Given the description of an element on the screen output the (x, y) to click on. 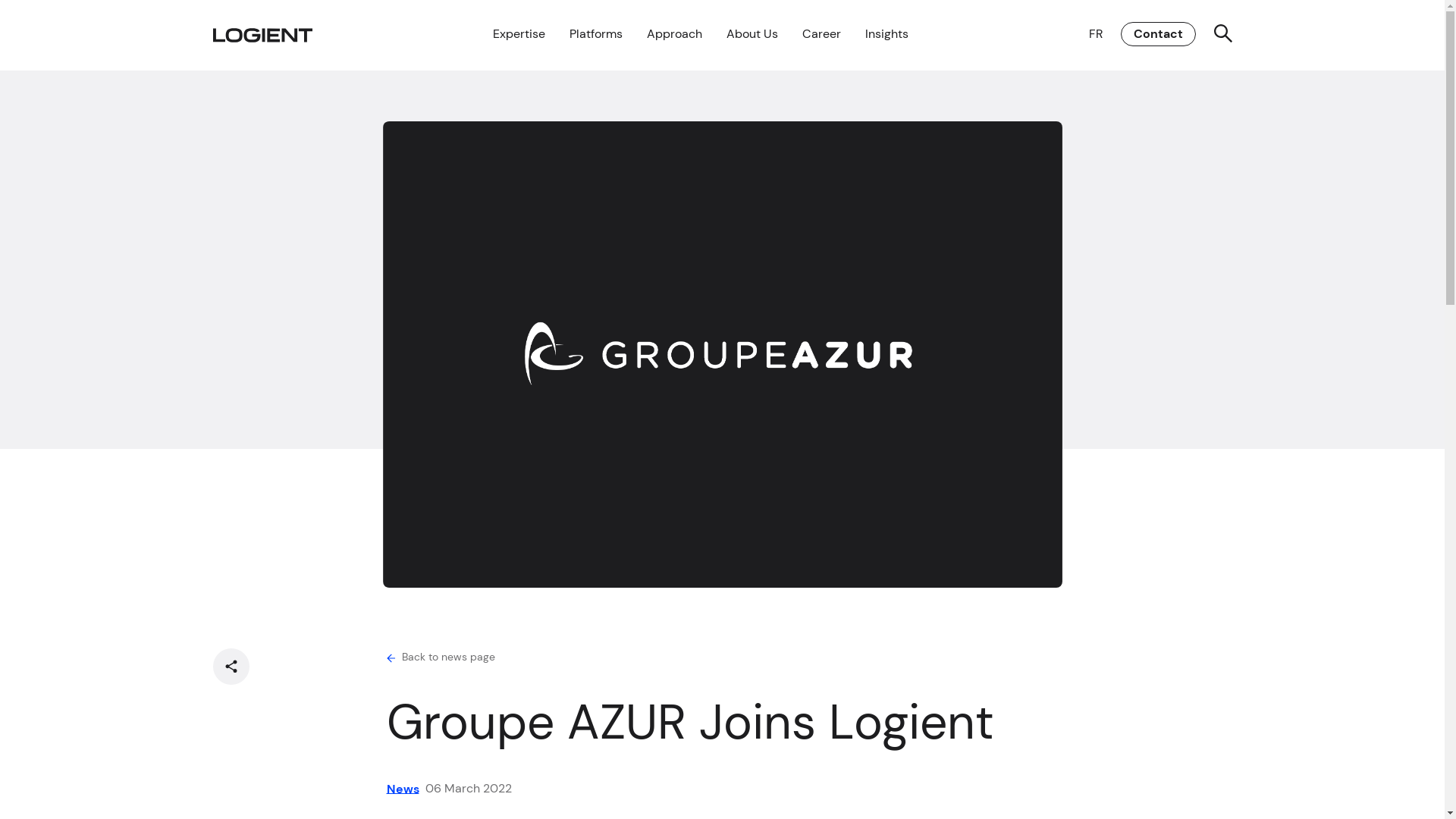
Approach Element type: text (673, 34)
News Element type: text (402, 788)
About Us Element type: text (752, 34)
Back to news page Element type: text (440, 656)
Career Element type: text (821, 34)
Expertise Element type: text (518, 34)
FR Element type: text (1095, 32)
Contact Element type: text (1157, 33)
Platforms Element type: text (594, 34)
Insights Element type: text (885, 34)
